Given the description of an element on the screen output the (x, y) to click on. 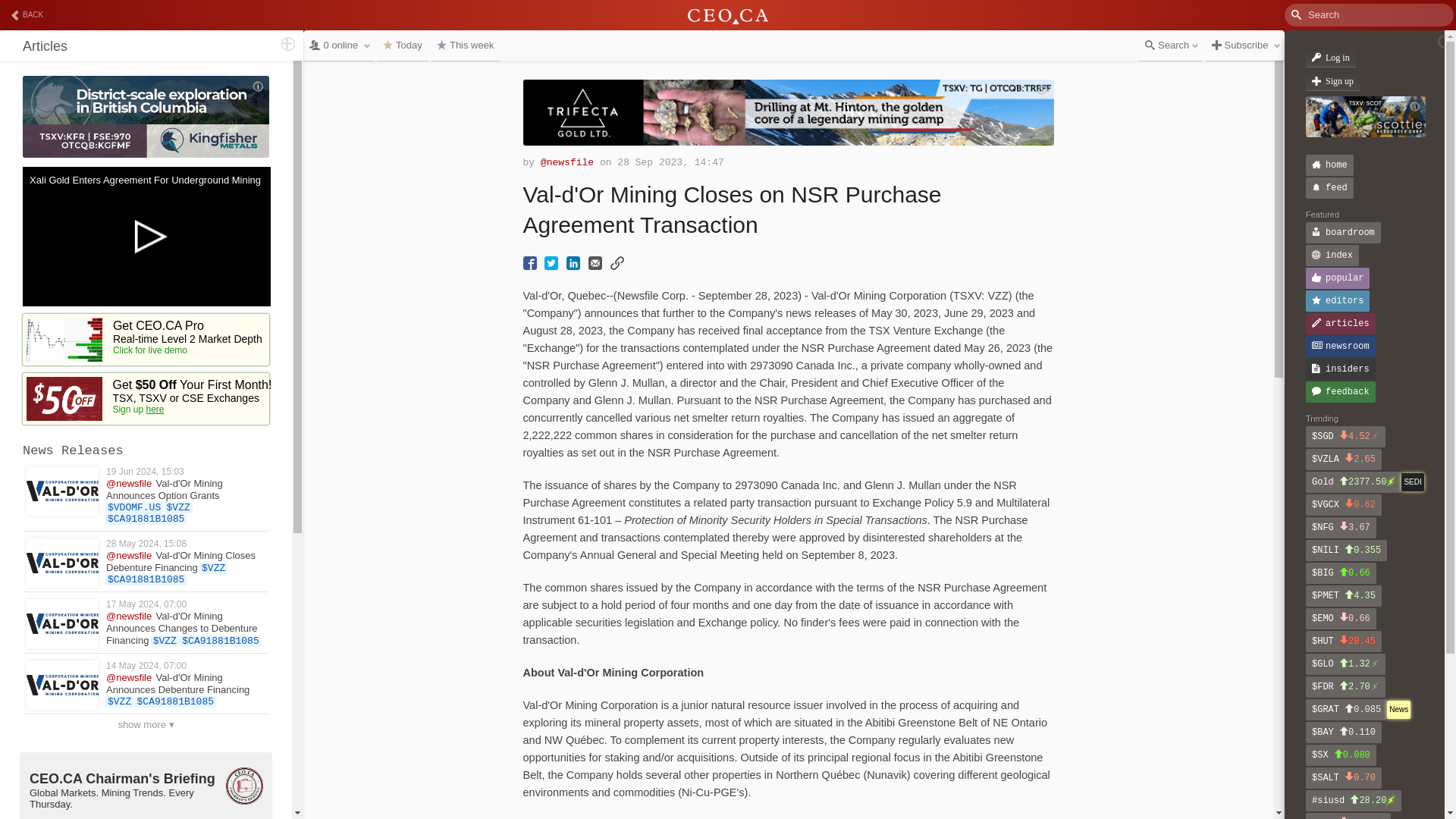
Search (71, 10)
Play Video (146, 236)
Play Video (146, 236)
